Given the description of an element on the screen output the (x, y) to click on. 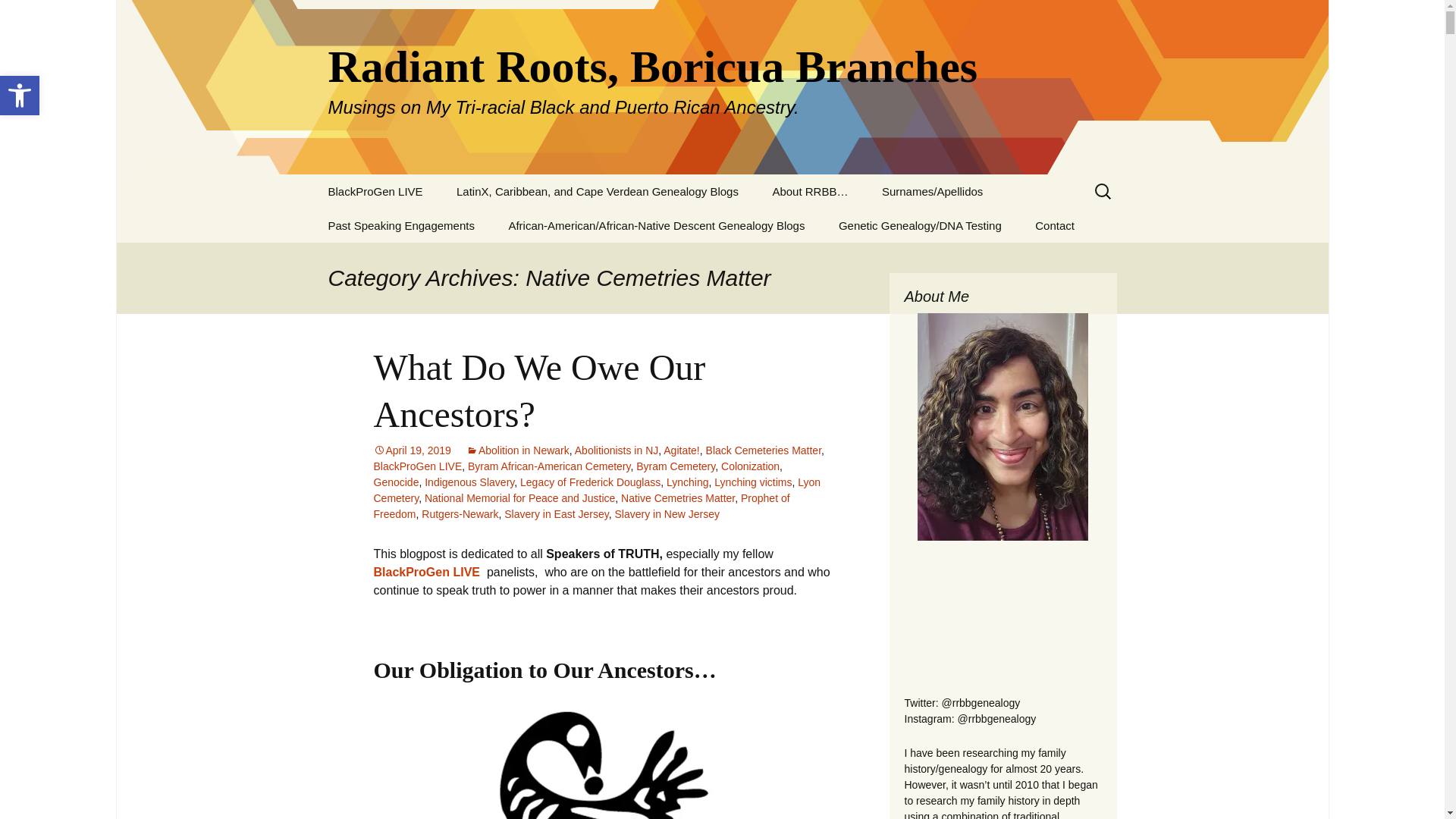
High Contrast (19, 95)
Links Underline (590, 481)
BlackProGen LIVE (19, 95)
LatinX, Caribbean, and Cape Verdean Genealogy Blogs (375, 191)
Colonization (597, 191)
Lynching victims (749, 466)
Agitate! (753, 481)
Reset (680, 450)
